Given the description of an element on the screen output the (x, y) to click on. 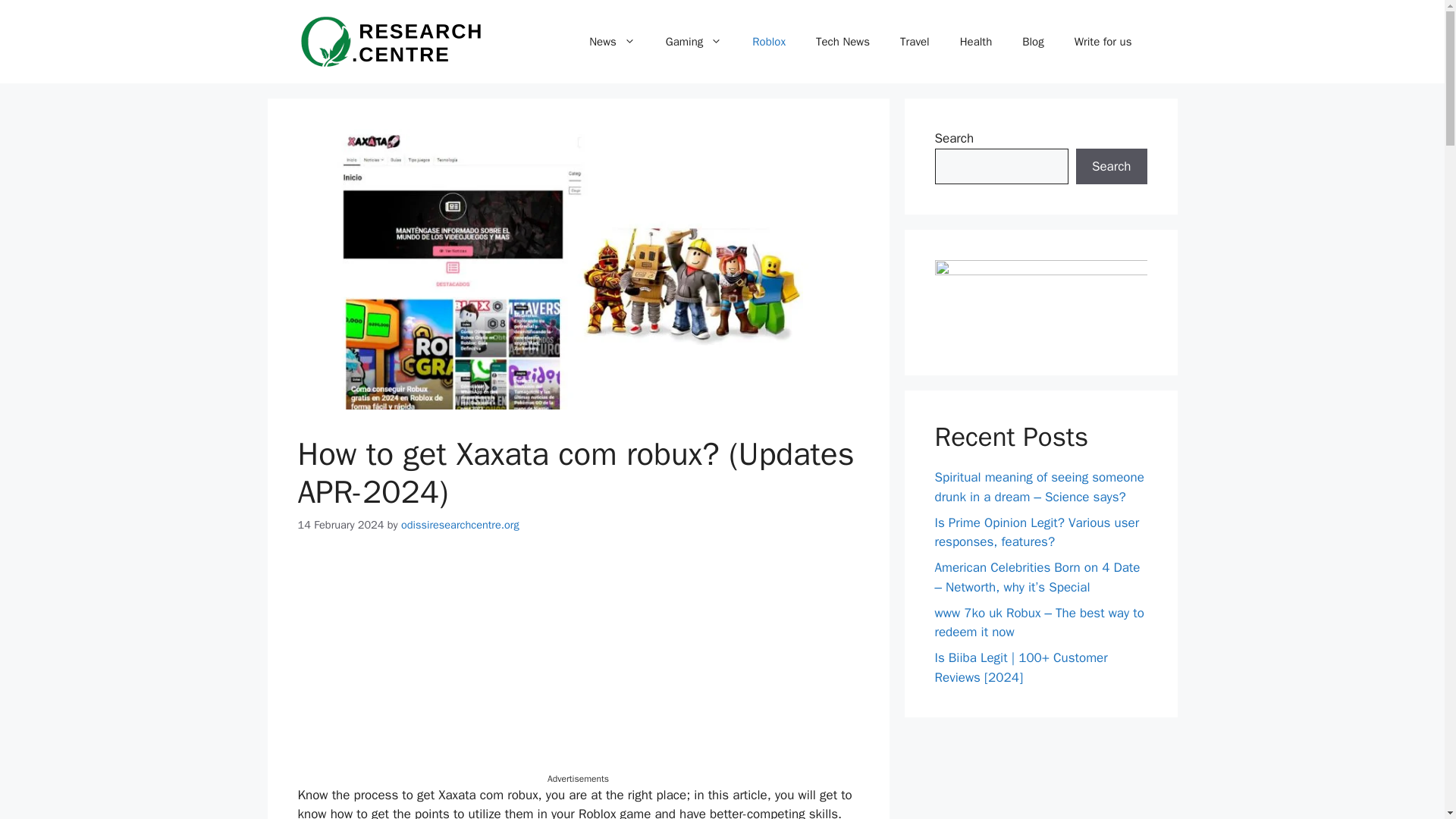
Roblox (768, 41)
Blog (1032, 41)
View all posts by odissiresearchcentre.org (460, 524)
Travel (914, 41)
Gaming (693, 41)
Search (1111, 166)
odissiresearchcentre.org (460, 524)
Health (975, 41)
News (611, 41)
Write for us (1103, 41)
